Given the description of an element on the screen output the (x, y) to click on. 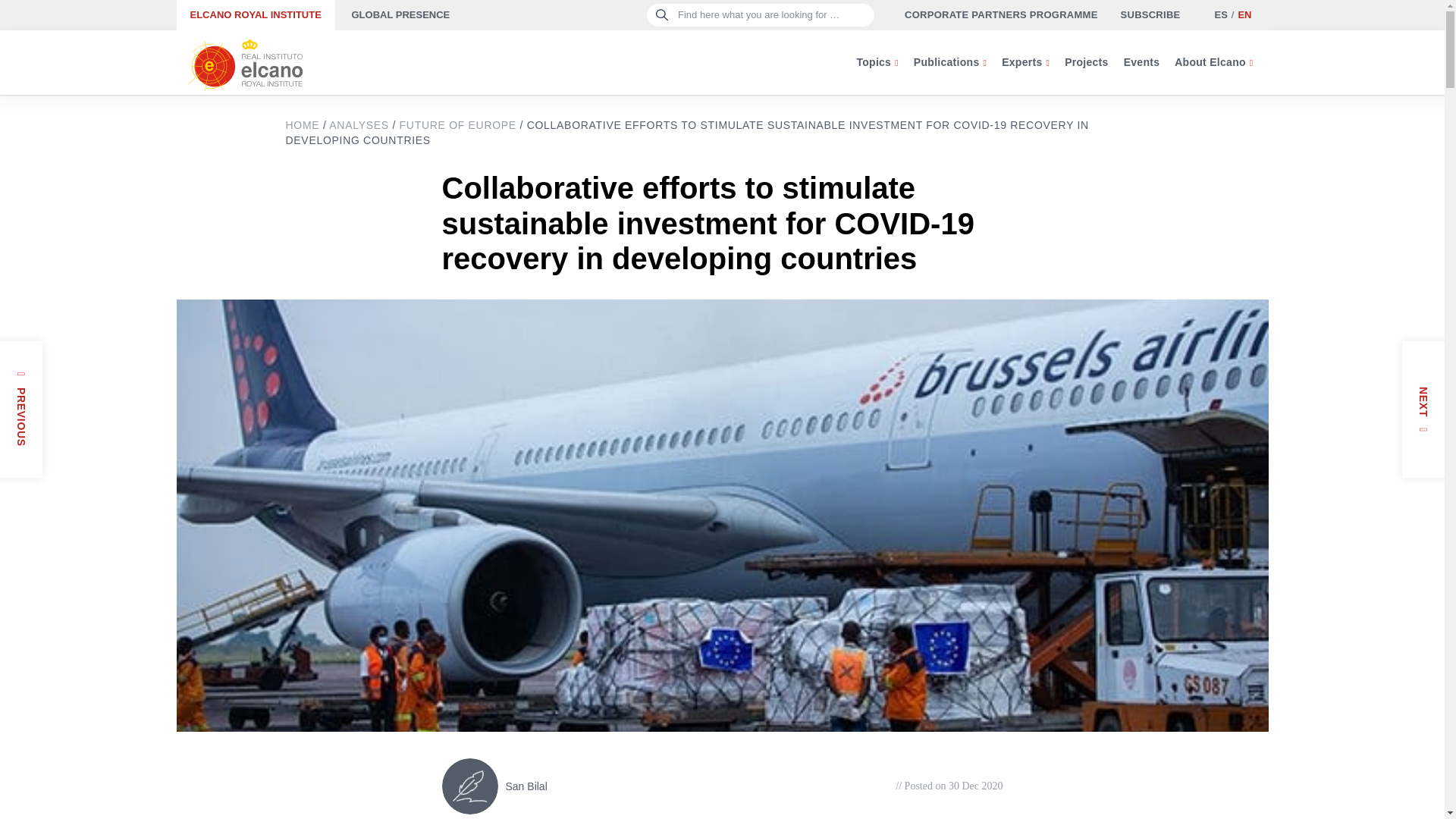
Topics (876, 61)
Projects (1086, 61)
CORPORATE PARTNERS PROGRAMME (1000, 15)
GLOBAL PRESENCE (400, 15)
About Elcano (1213, 61)
Posted on 30 Dec 2020 (949, 786)
Posted on 23 Dec 2020 (5, 449)
Publications (949, 61)
ES (1219, 14)
SUBSCRIBE (1150, 15)
